Given the description of an element on the screen output the (x, y) to click on. 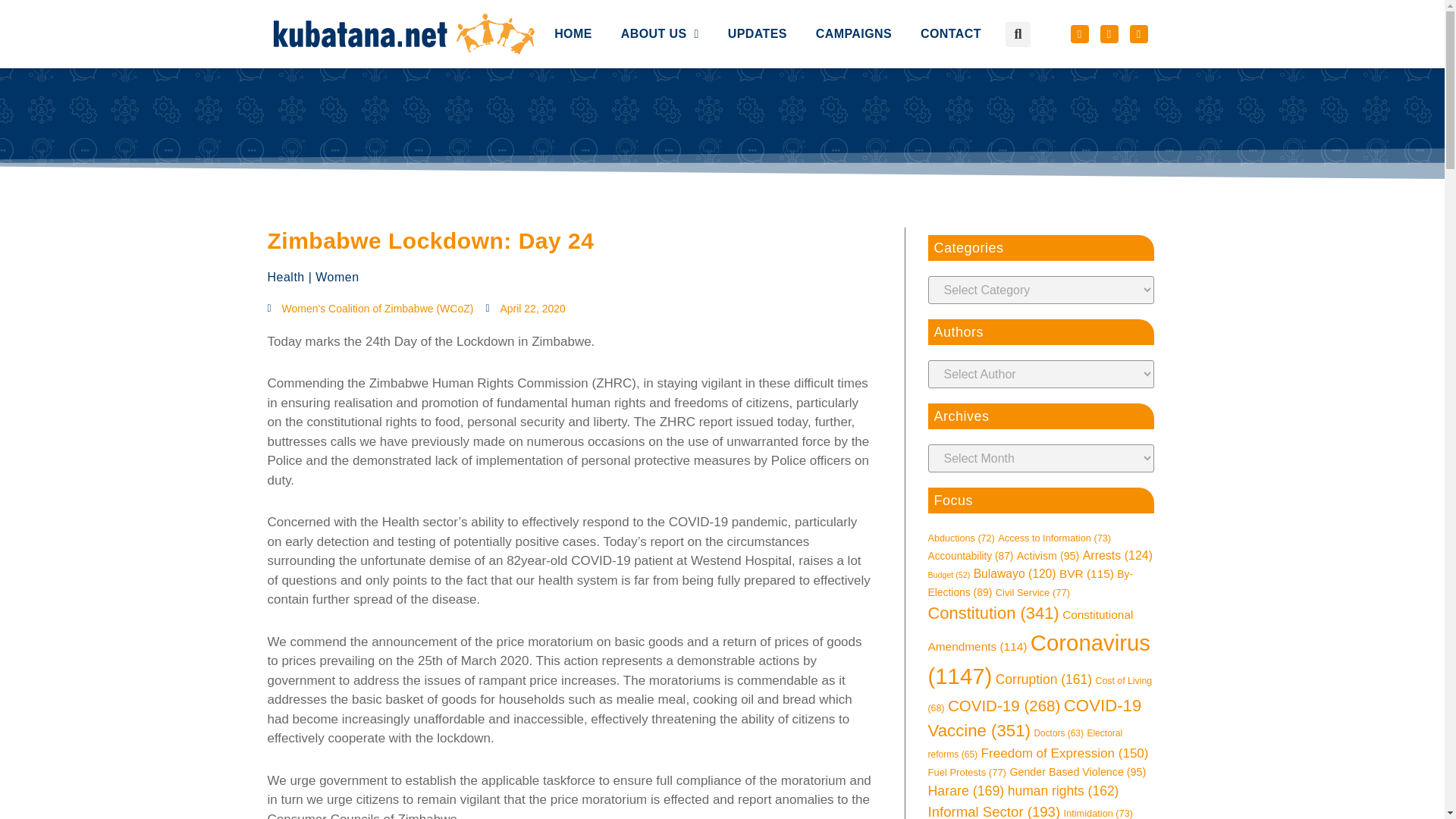
Women (336, 277)
Health (285, 277)
CONTACT (950, 5)
CAMPAIGNS (853, 3)
UPDATES (756, 2)
